Given the description of an element on the screen output the (x, y) to click on. 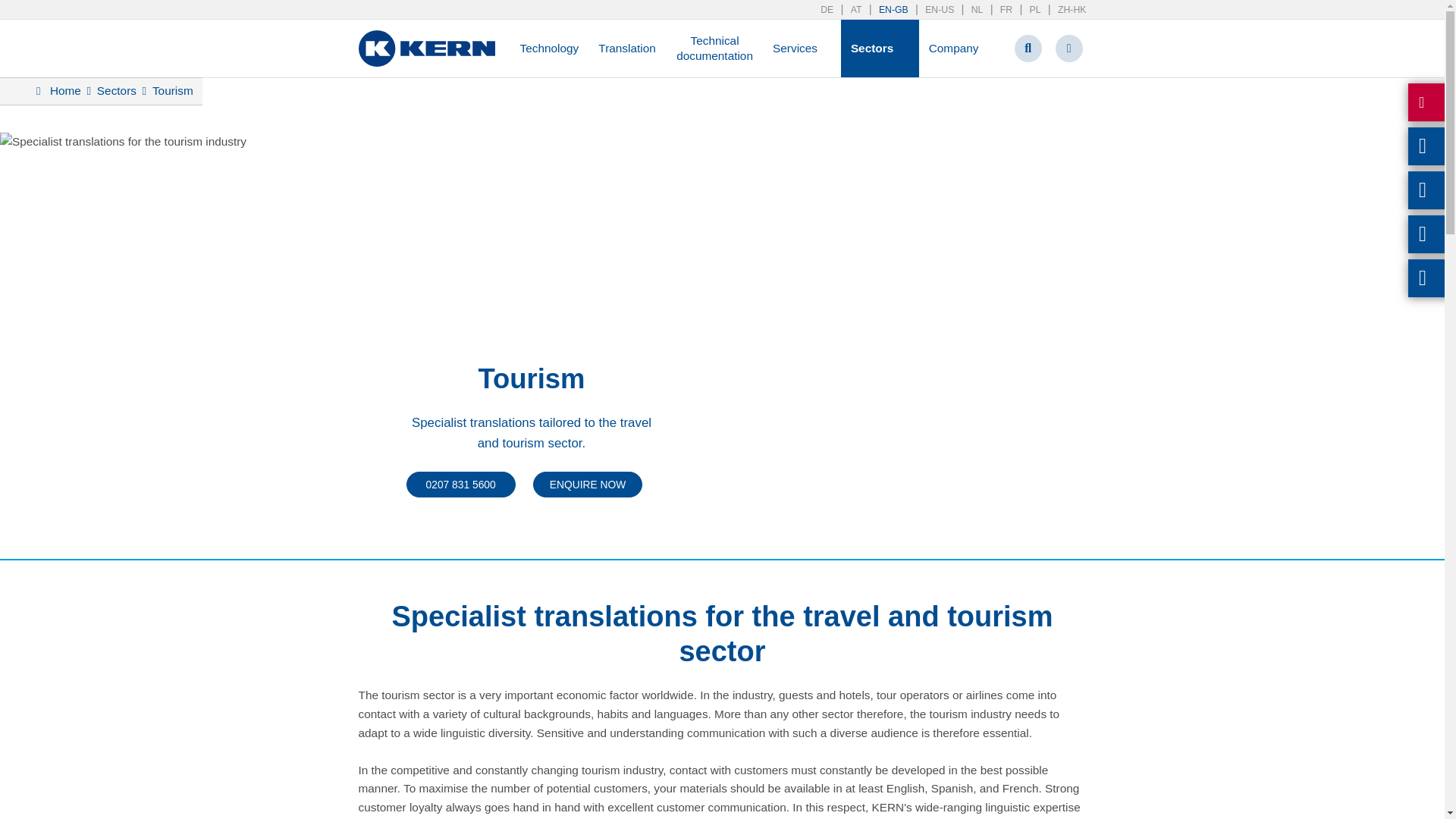
ZH-HK (1063, 9)
Specialist translations for the tourism industry (123, 141)
EN-GB (884, 9)
EN-US (931, 9)
Translation (627, 47)
AT (846, 9)
Technical documentation (714, 48)
Services (801, 47)
PL (1026, 9)
DE (826, 9)
NL (967, 9)
FR (996, 9)
Technology (548, 47)
